Given the description of an element on the screen output the (x, y) to click on. 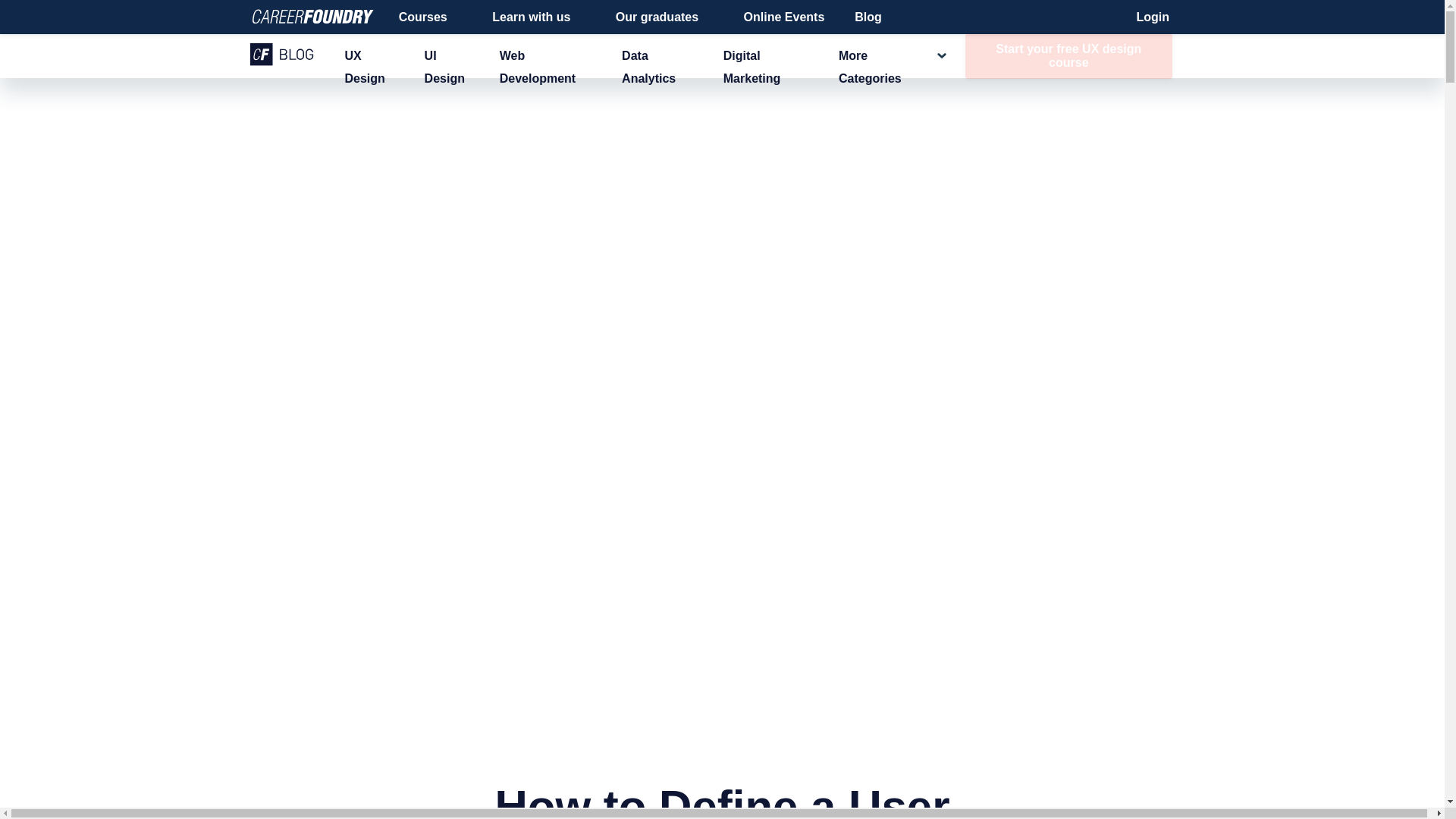
Learn with us (538, 17)
Login (1153, 17)
Online Events (784, 17)
Blog (868, 17)
Our graduates (664, 17)
Courses (430, 17)
